Given the description of an element on the screen output the (x, y) to click on. 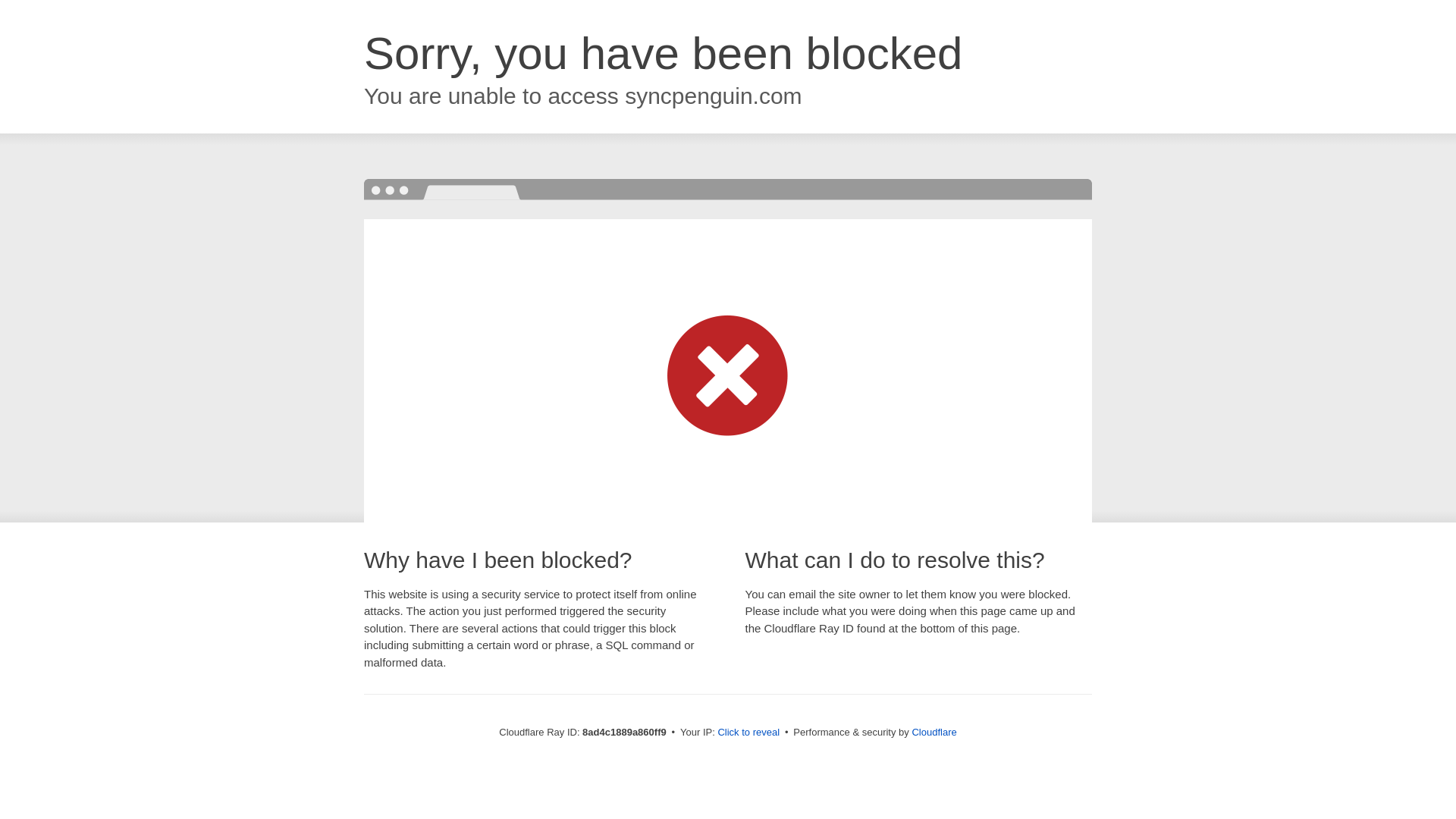
Cloudflare (933, 731)
Click to reveal (747, 732)
